Given the description of an element on the screen output the (x, y) to click on. 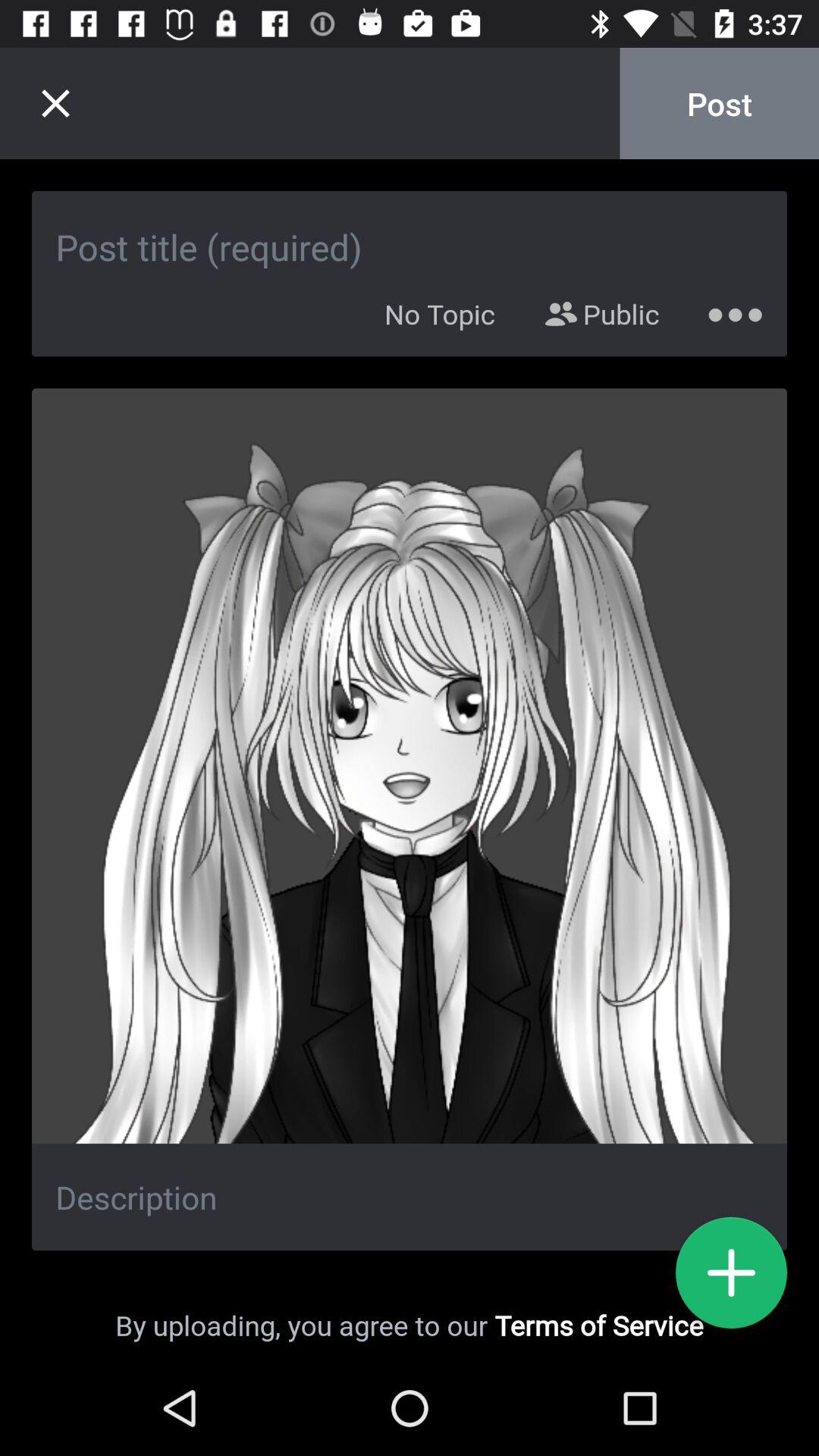
exit (55, 103)
